Given the description of an element on the screen output the (x, y) to click on. 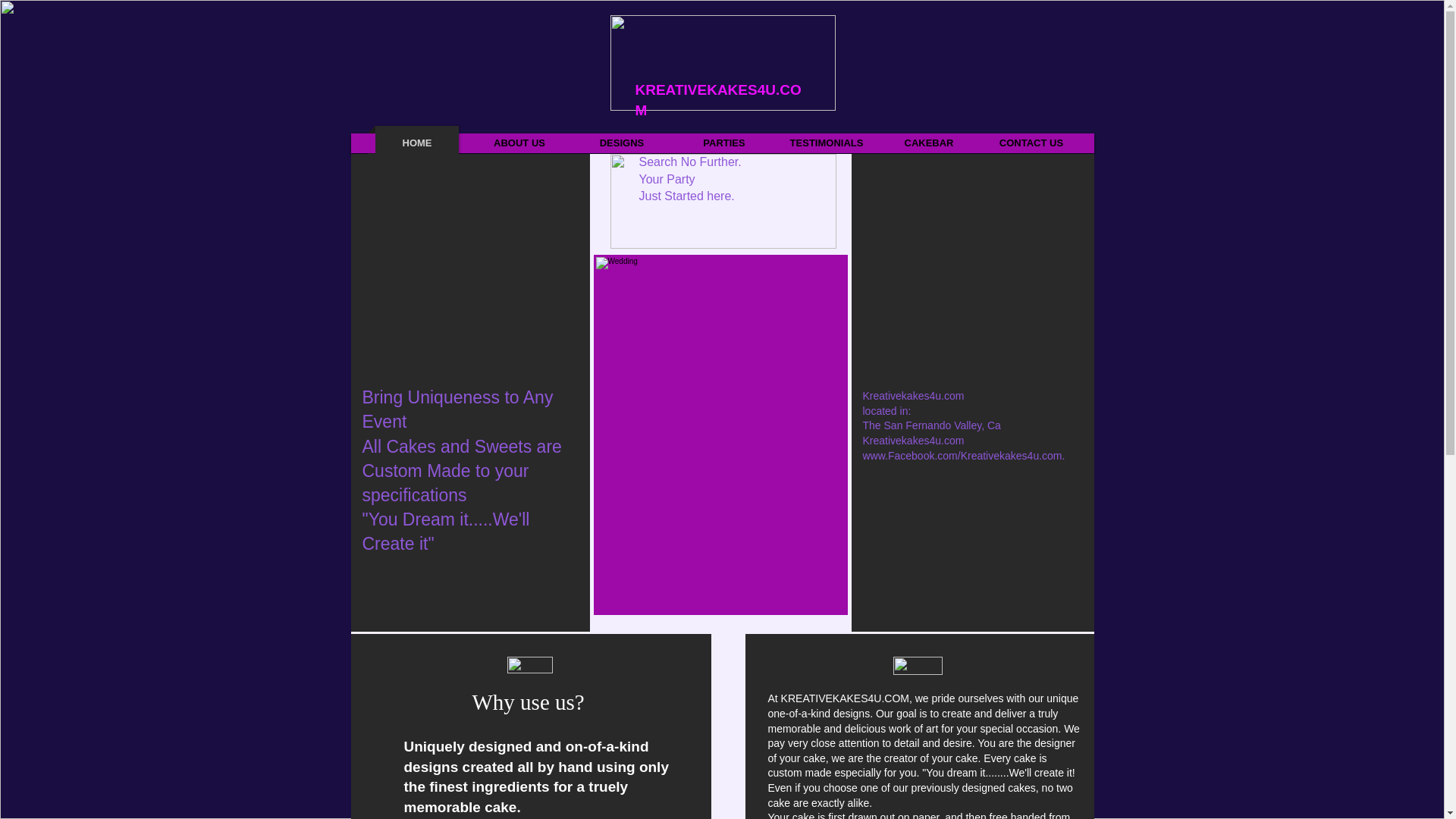
ABOUT US (519, 143)
TESTIMONIALS (826, 143)
HOME (416, 143)
CAKEBAR (928, 143)
PARTIES (724, 143)
DESIGNS (621, 143)
CONTACT US (1030, 143)
